Given the description of an element on the screen output the (x, y) to click on. 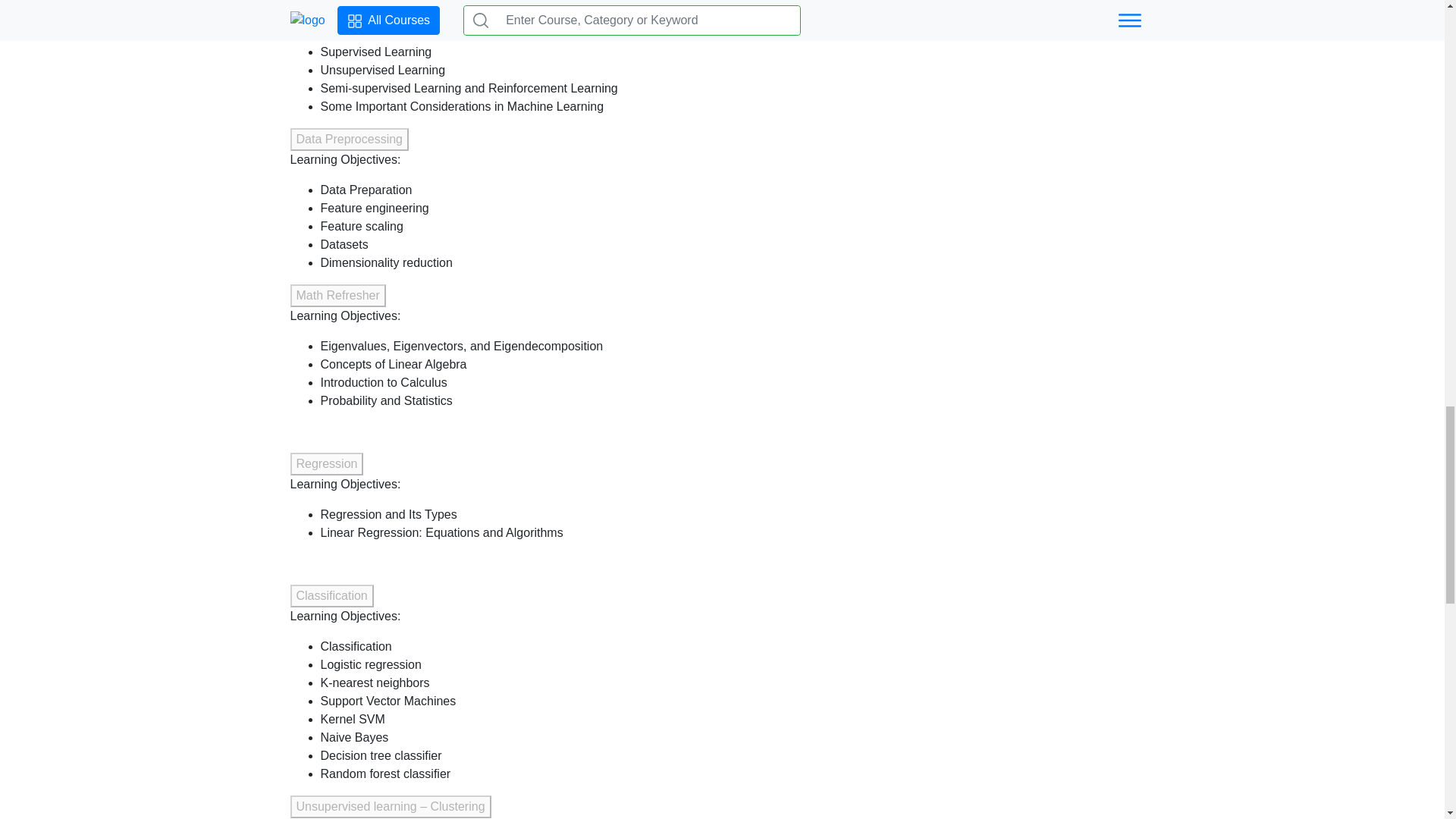
Data Preprocessing (349, 138)
Classification (330, 595)
Regression (325, 463)
Math Refresher (337, 295)
Techniques in Machine Learning Master Program. (429, 6)
